Given the description of an element on the screen output the (x, y) to click on. 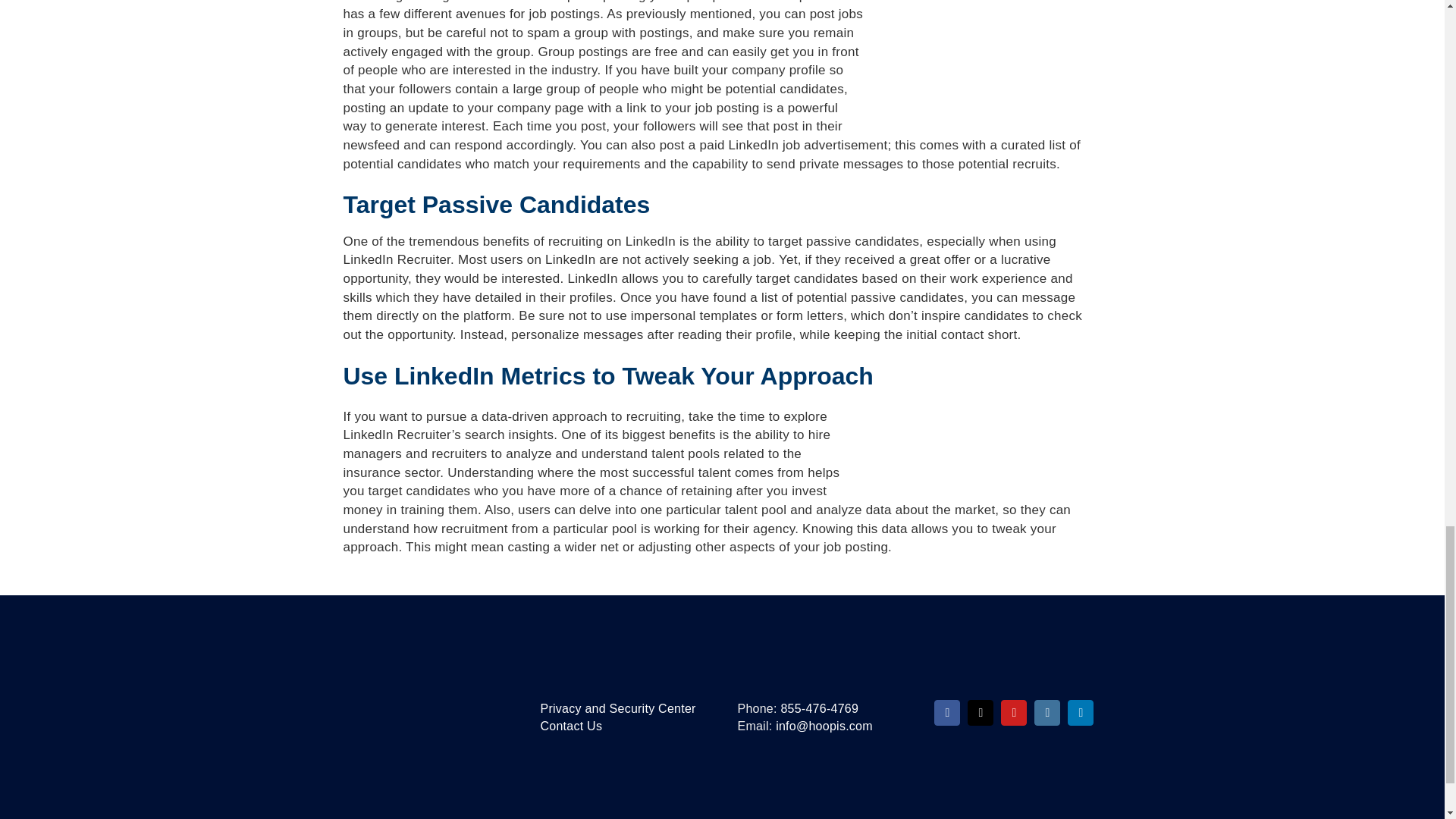
Facebook (946, 712)
LinkedIn (1080, 712)
Instagram (1046, 712)
X (980, 712)
YouTube (1013, 712)
